Given the description of an element on the screen output the (x, y) to click on. 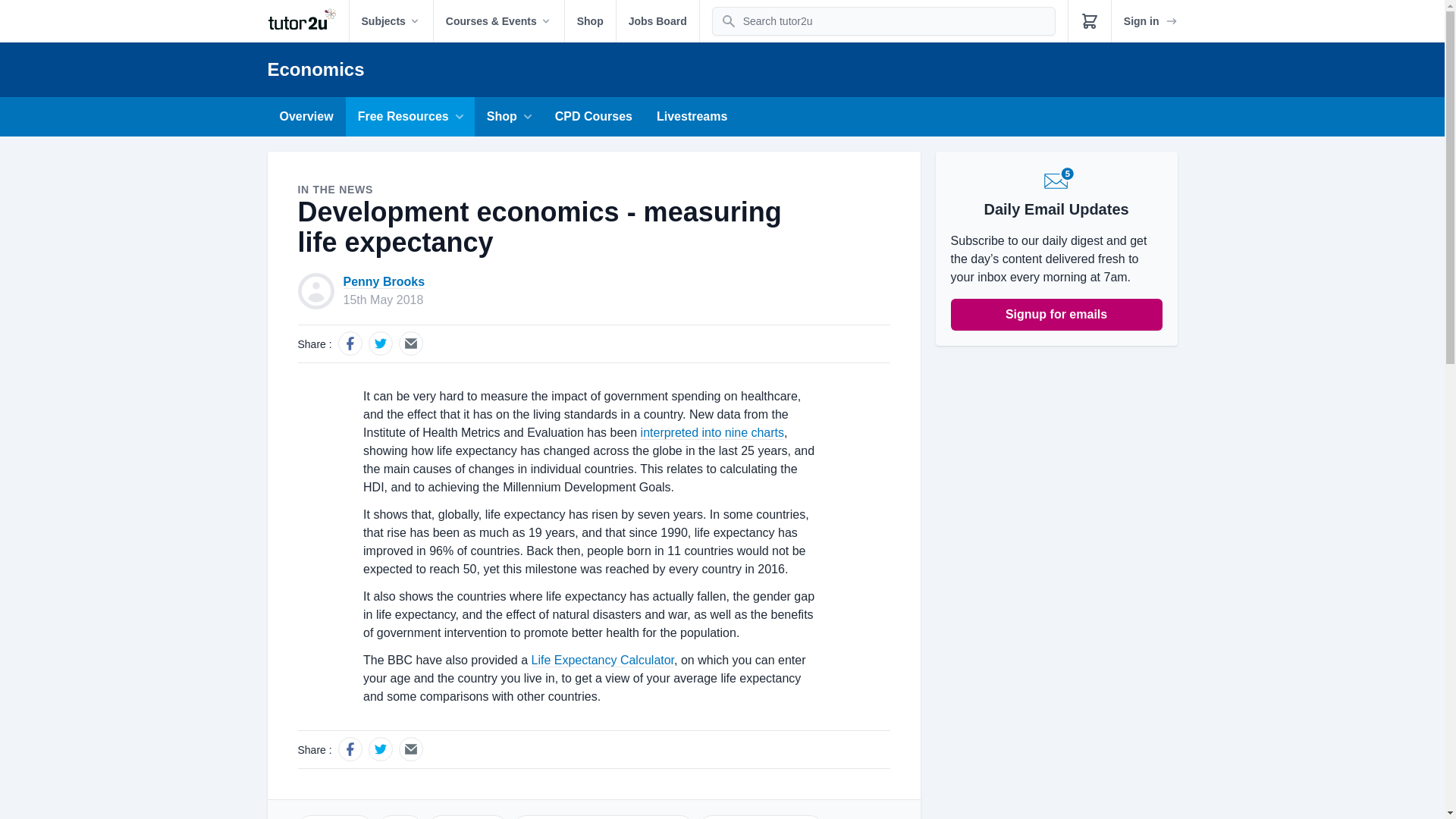
Shop (589, 21)
Sign in (1150, 21)
Economics (315, 68)
Jobs Board (656, 21)
tutor2u (306, 21)
Overview (305, 116)
Subjects (390, 21)
Free Resources (410, 116)
